Given the description of an element on the screen output the (x, y) to click on. 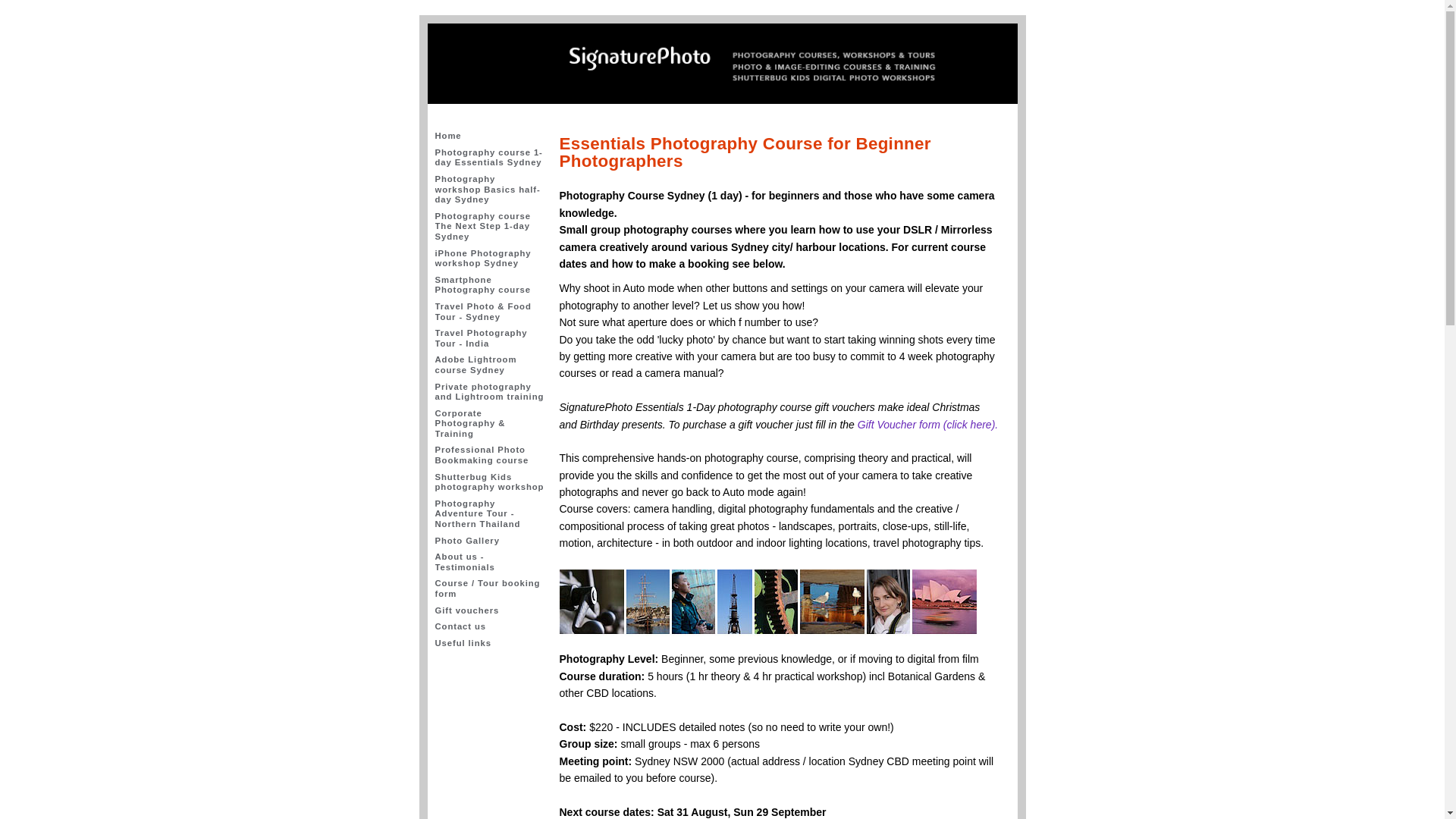
Photography Adventure Tour - Northern Thailand (489, 514)
Shutterbug Kids photography workshop (489, 482)
Photography workshop Basics half-day Sydney (489, 189)
Gift vouchers (489, 610)
Private photography and Lightroom training (489, 392)
Smartphone Photography course (489, 284)
Photography course 1-day Essentials Sydney (489, 157)
Travel Photography Tour - India (489, 338)
Professional Photo Bookmaking course (489, 455)
Adobe Lightroom course Sydney (489, 365)
Useful links (489, 643)
iPhone Photography workshop Sydney (489, 258)
Photo Gallery (489, 541)
Home (489, 135)
Contact us (489, 627)
